Given the description of an element on the screen output the (x, y) to click on. 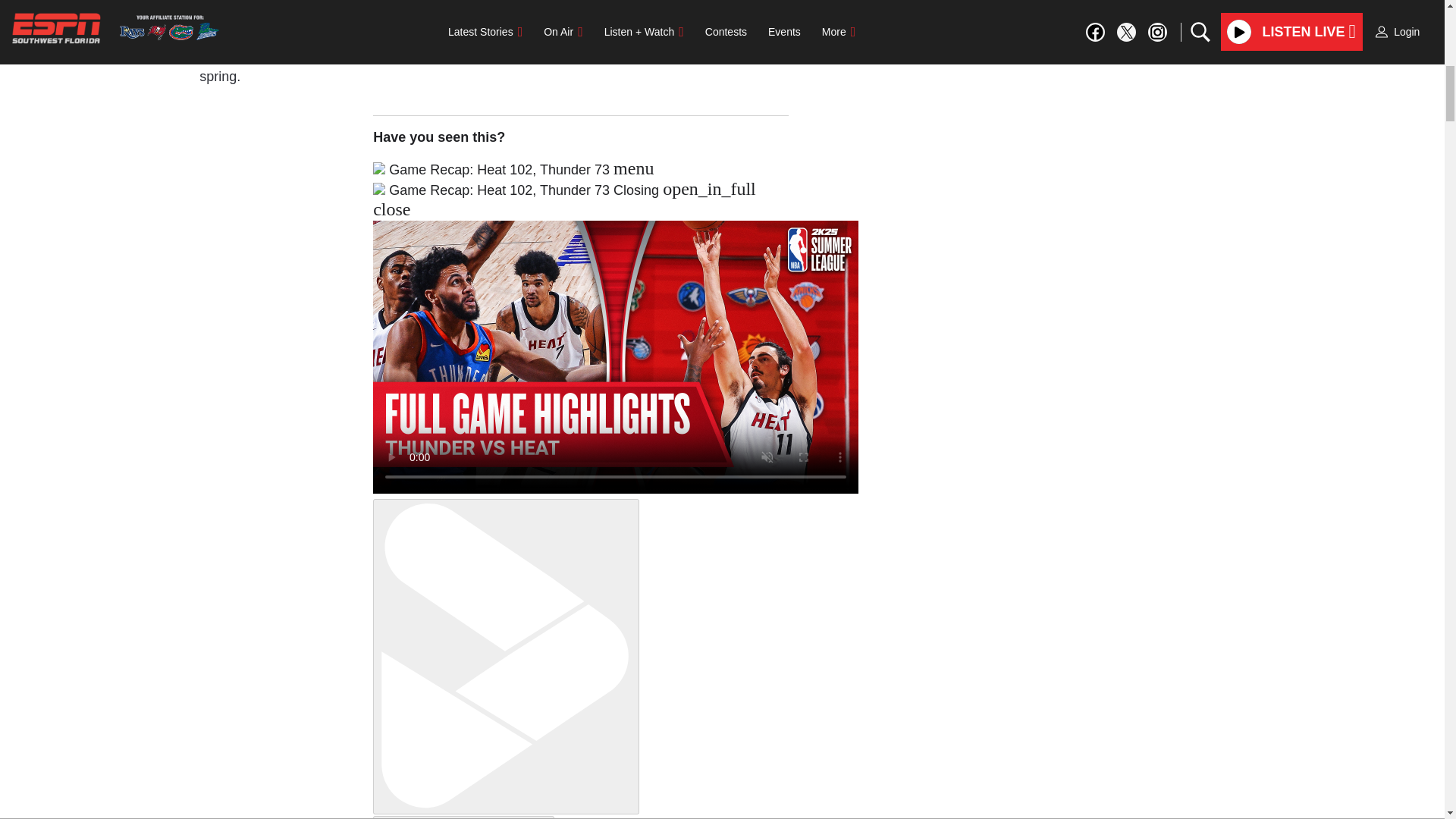
Close AdCheckmark indicating ad close (1434, 11)
